Given the description of an element on the screen output the (x, y) to click on. 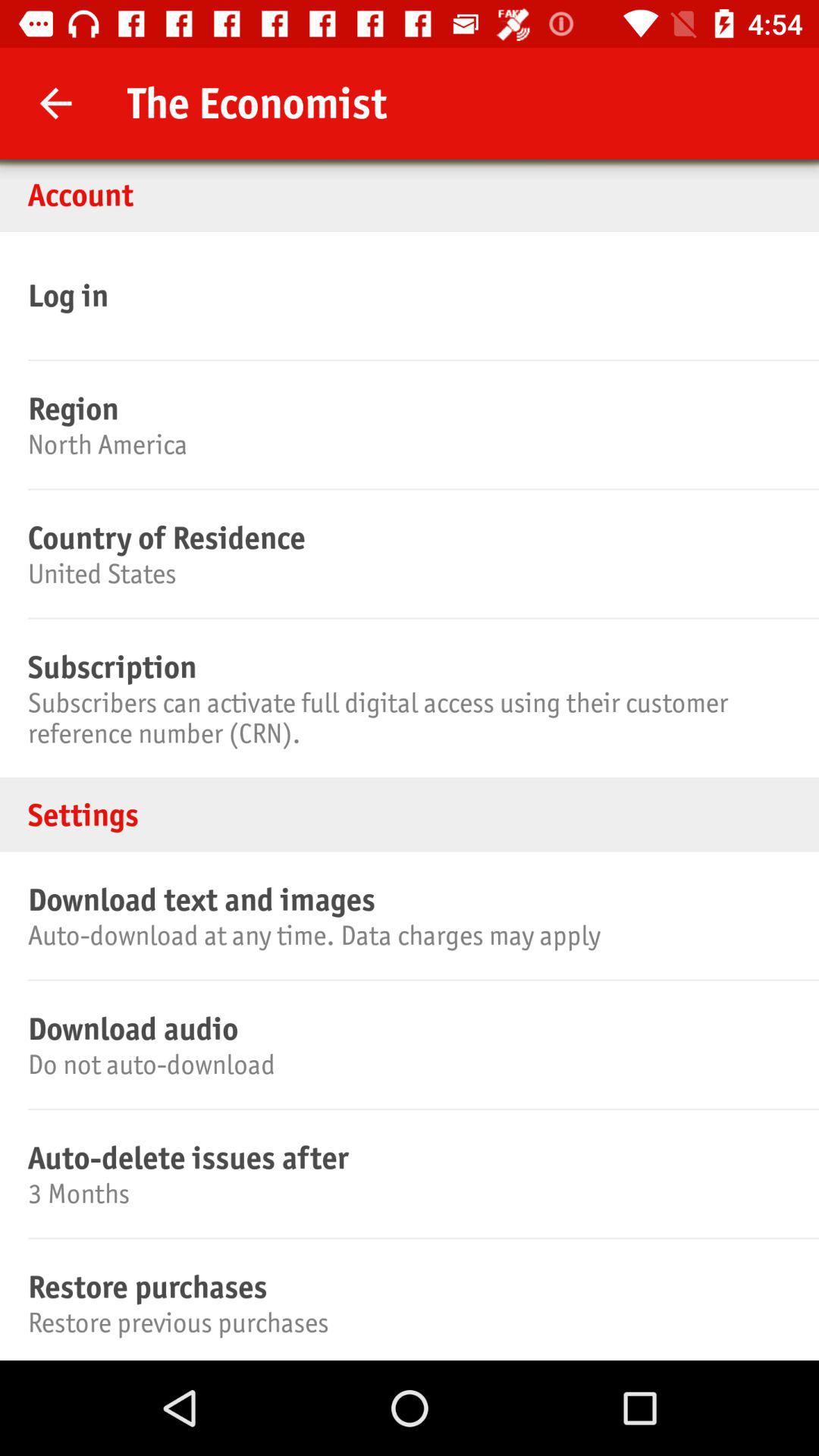
select icon below settings (407, 899)
